Given the description of an element on the screen output the (x, y) to click on. 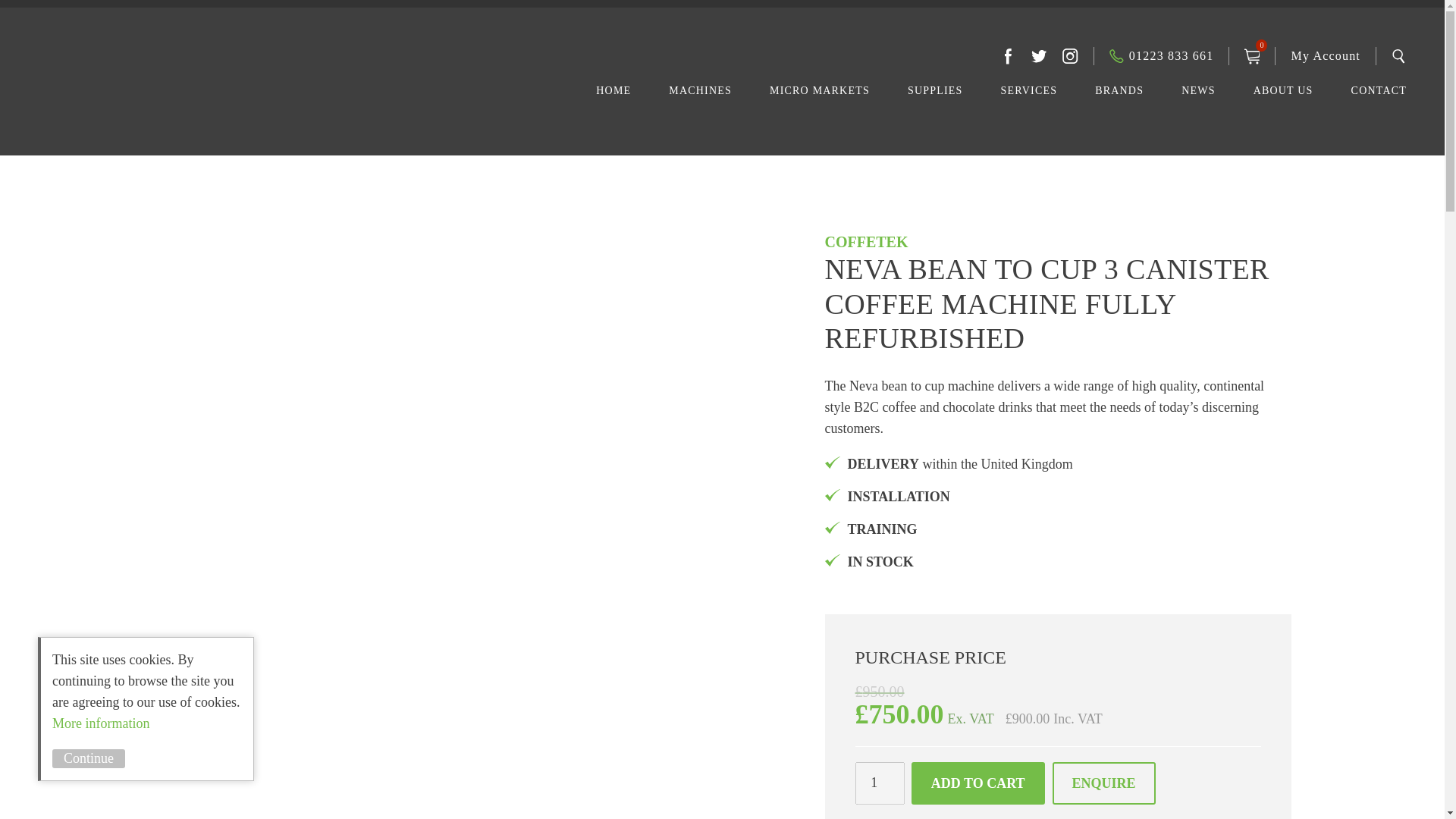
My Account (1324, 55)
Simply Great Coffee (221, 102)
MICRO MARKETS (819, 97)
HOME (612, 97)
01223 833 661 (1161, 55)
SUPPLIES (934, 97)
1 (880, 783)
MACHINES (700, 97)
